Given the description of an element on the screen output the (x, y) to click on. 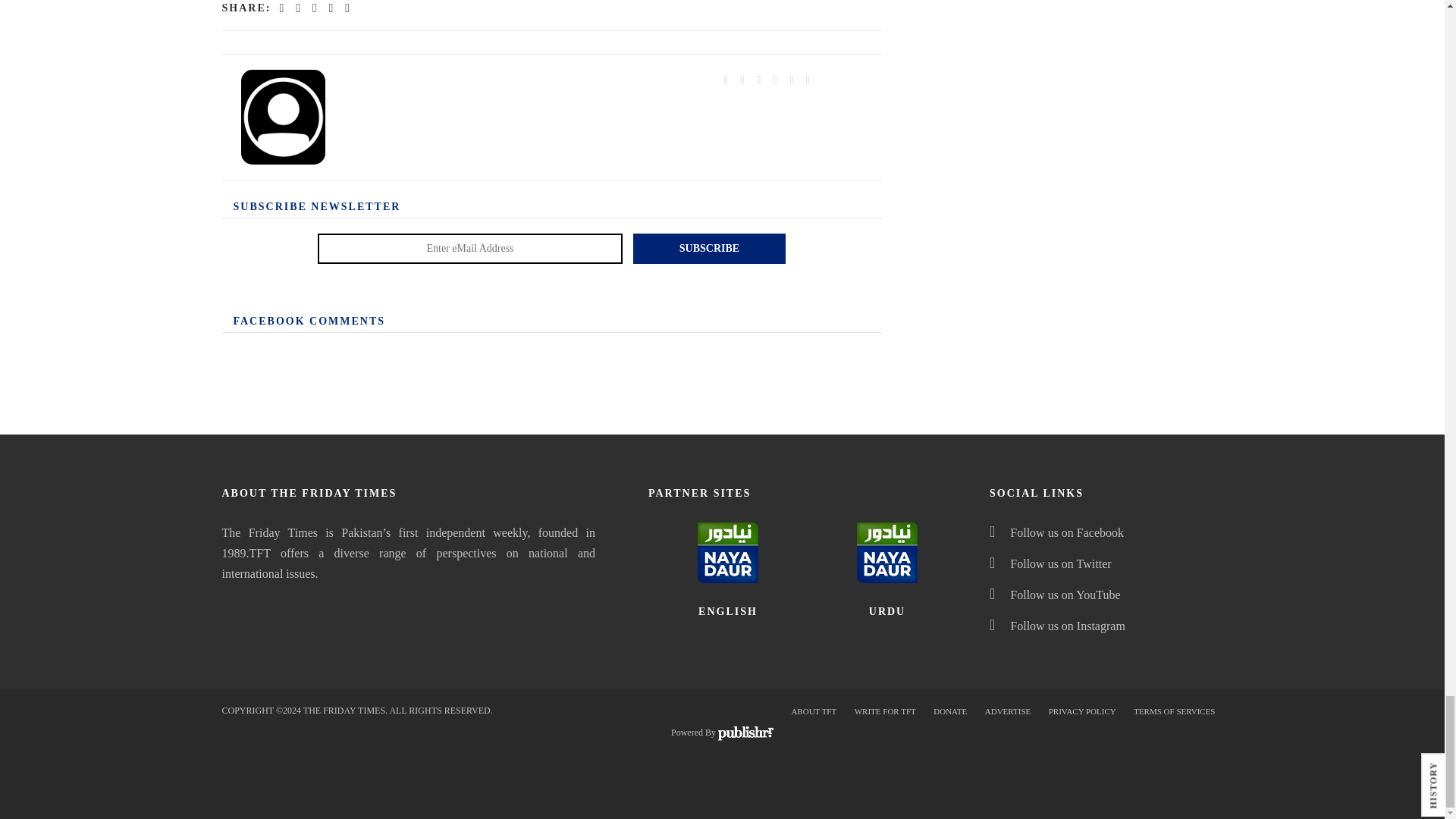
Subscribe (709, 248)
